Given the description of an element on the screen output the (x, y) to click on. 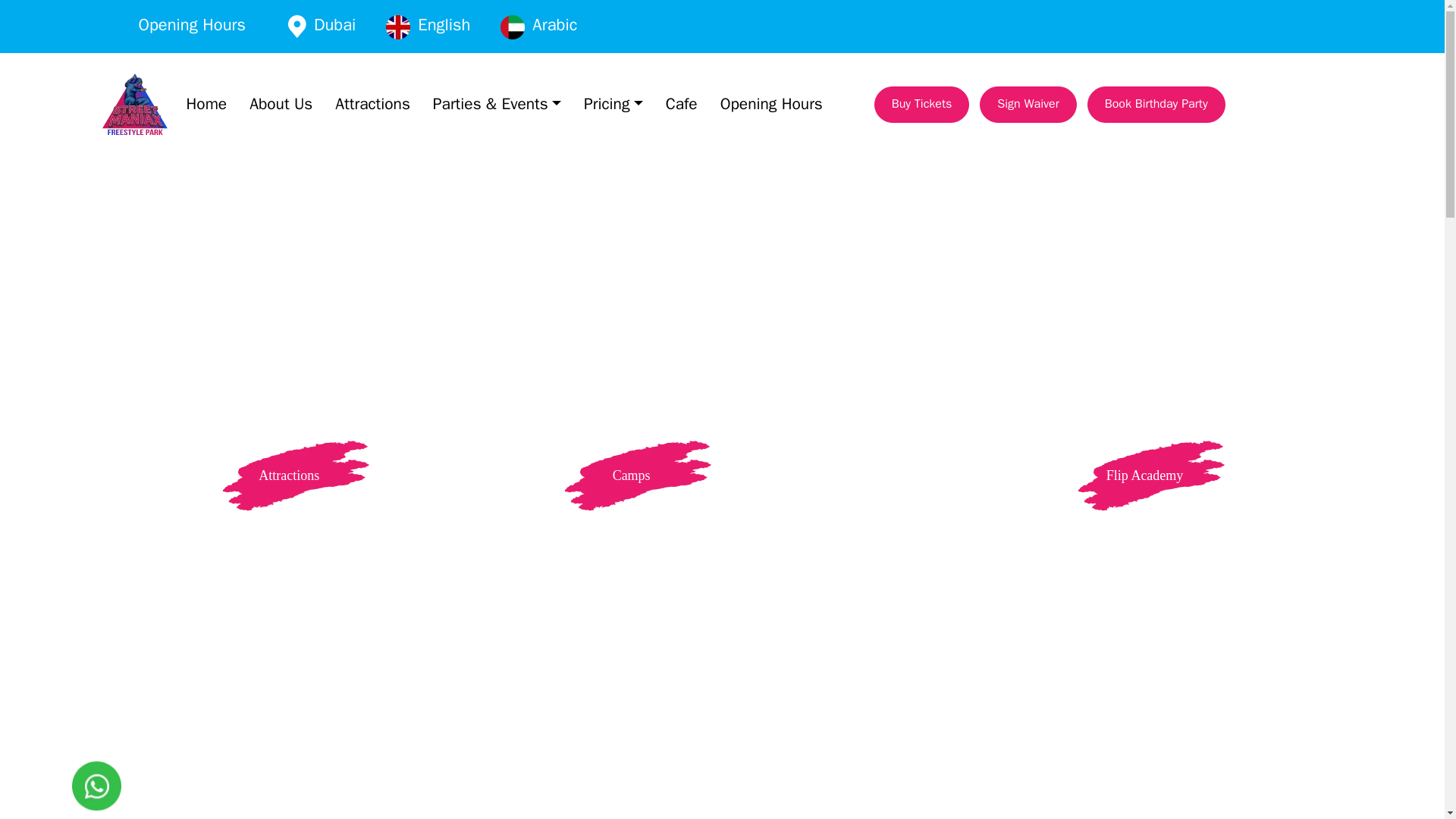
Buy Tickets (922, 104)
Book Birthday Party (1156, 104)
Home (206, 104)
Attractions (372, 104)
Camps (631, 475)
Parties (459, 475)
Flip Academy (1144, 475)
Sign Waiver (1027, 104)
Arabic (554, 26)
Opening Hours (191, 25)
Attractions (288, 475)
Team Building (802, 475)
Cafe (681, 104)
English (443, 26)
Opening Hours (771, 104)
